Given the description of an element on the screen output the (x, y) to click on. 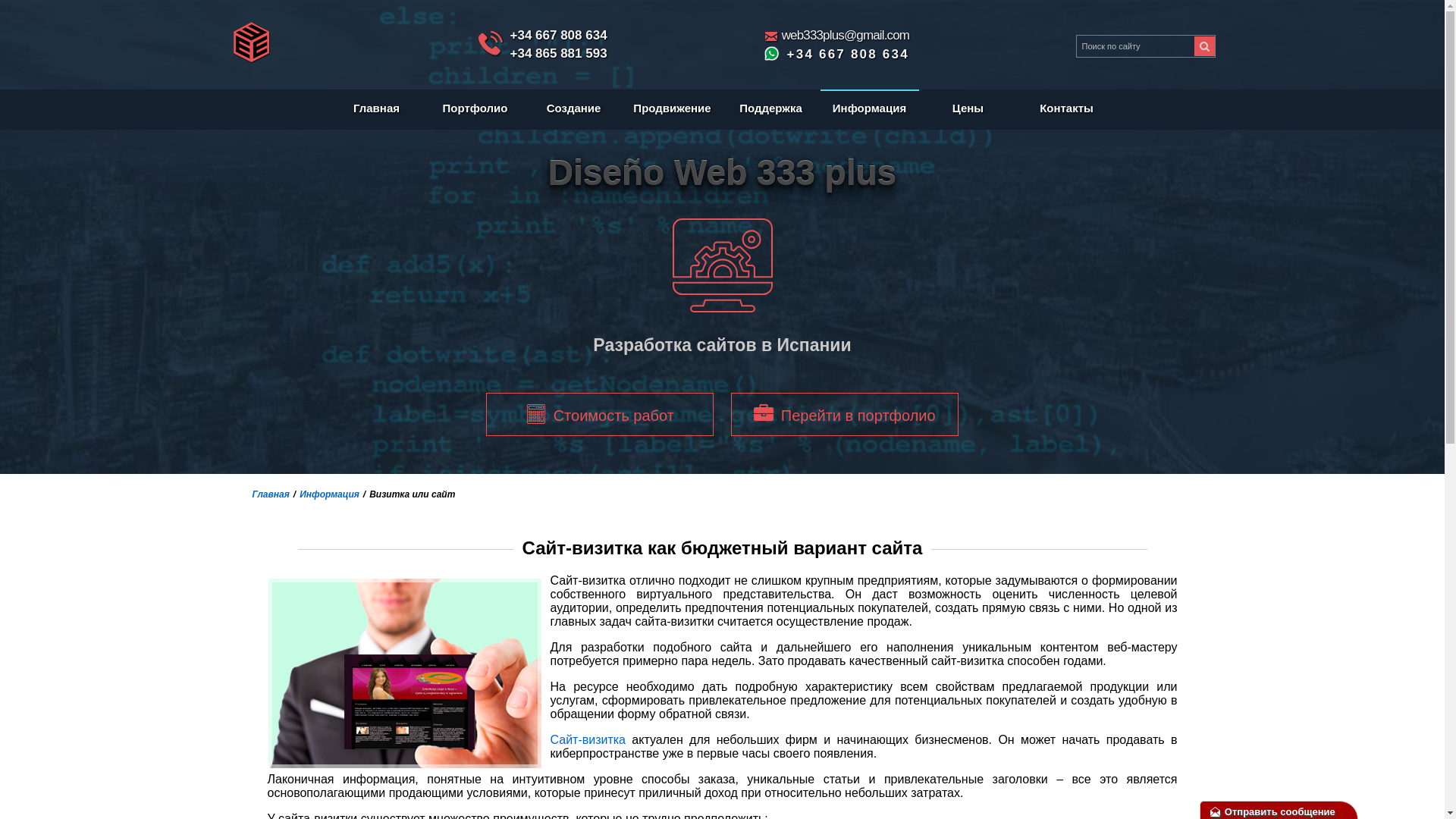
78 Element type: text (1203, 46)
+34 667 808 634 Element type: text (557, 35)
+34 865 881 593 Element type: text (557, 53)
web333plus@gmail.com Element type: text (845, 35)
+34 667 808 634 Element type: text (835, 54)
